Given the description of an element on the screen output the (x, y) to click on. 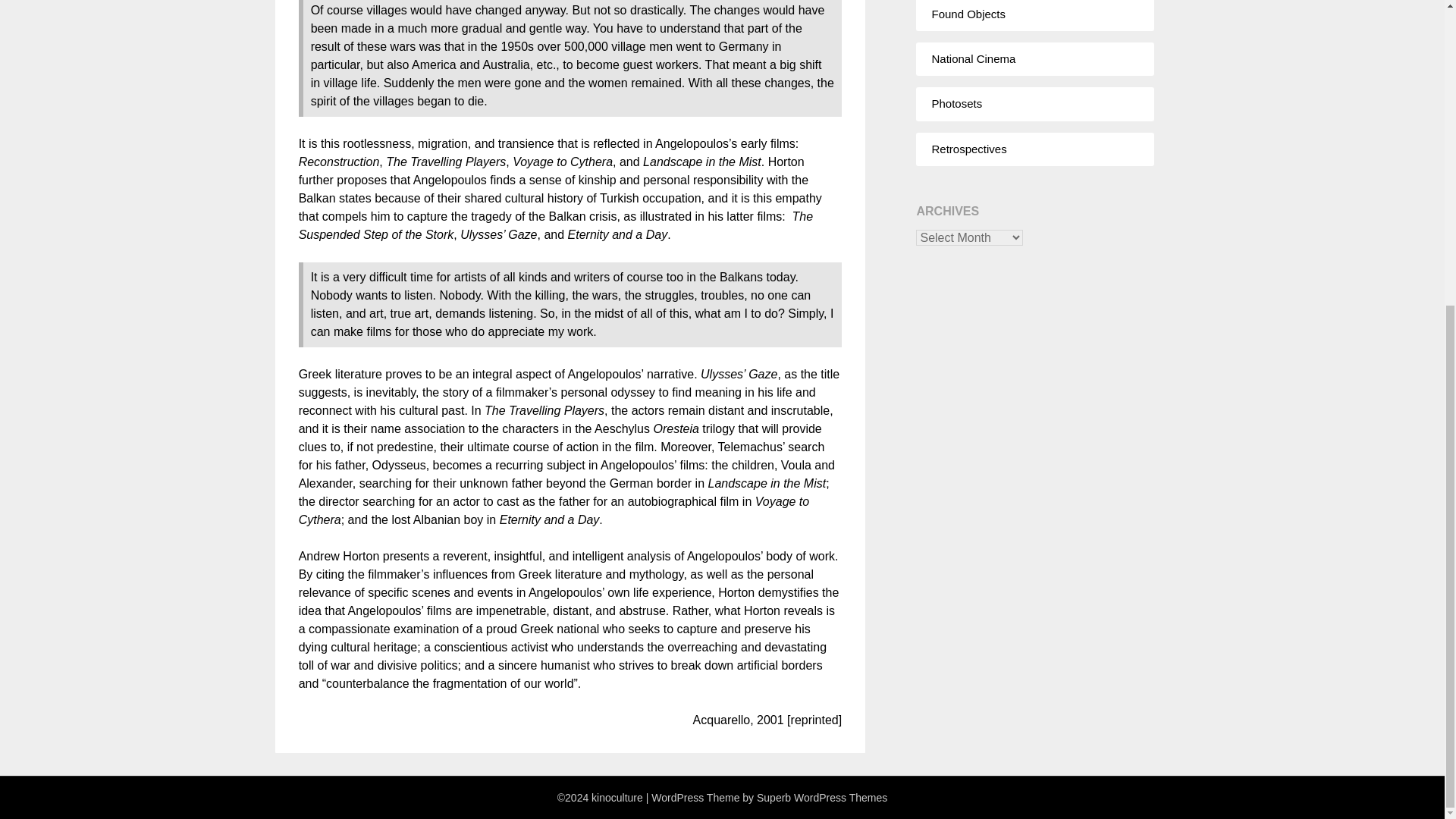
National Cinema (972, 58)
Retrospectives (968, 148)
Found Objects (968, 13)
Photosets (956, 103)
Superb WordPress Themes (821, 797)
